Given the description of an element on the screen output the (x, y) to click on. 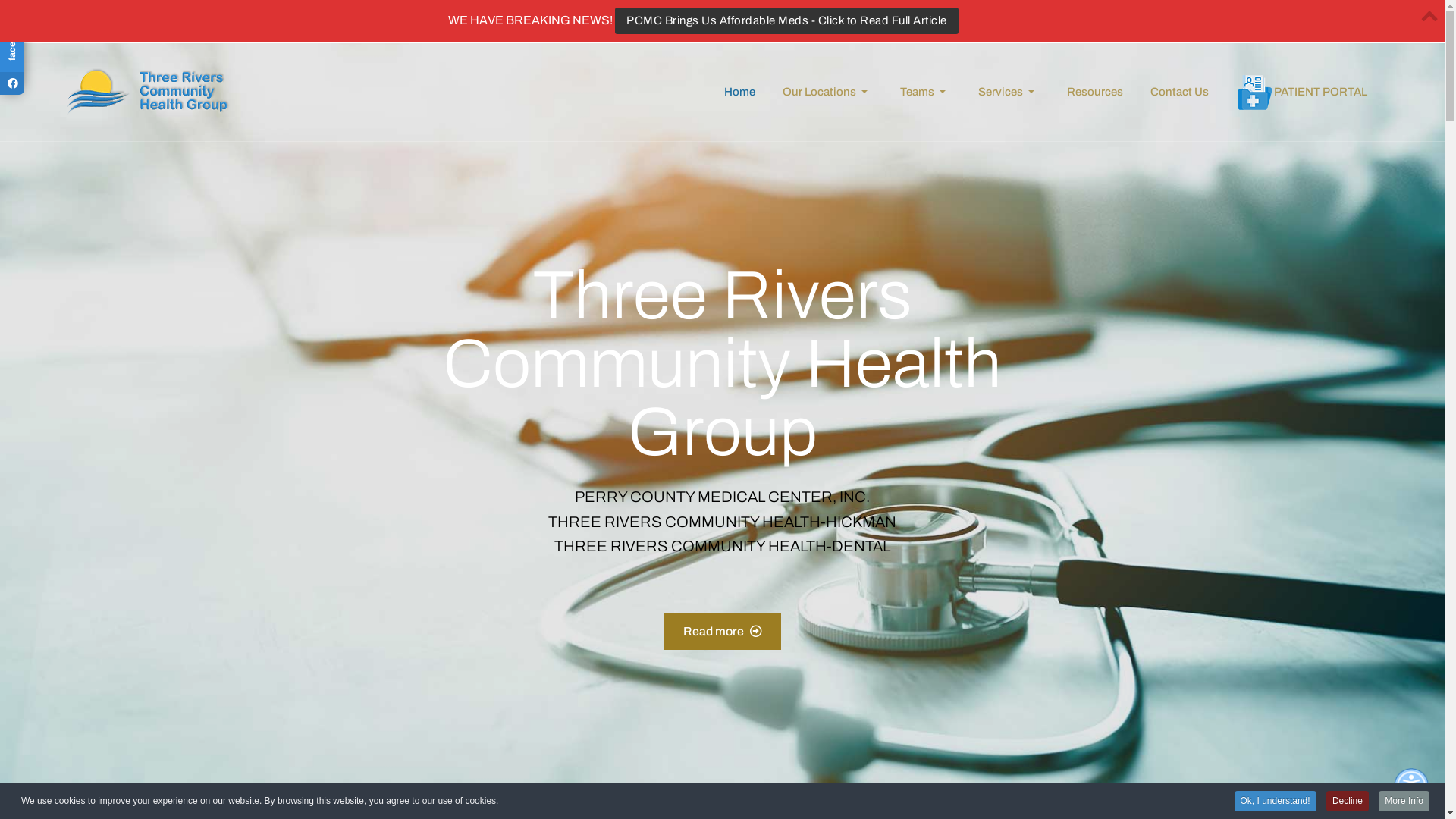
Read more Element type: text (722, 630)
Contact Us Element type: text (1179, 91)
Ok, I understand! Element type: text (1275, 800)
Home Element type: text (739, 91)
More Info Element type: text (1403, 800)
Open accessibility tools Element type: hover (1411, 785)
PATIENT PORTAL Element type: text (1301, 91)
Services Element type: text (1008, 91)
Teams Element type: text (925, 91)
PCMC Brings Us Affordable Meds - Click to Read Full Article Element type: text (786, 20)
Our Locations Element type: text (827, 91)
Resources Element type: text (1094, 91)
Three Rivers Community Health Group Element type: hover (149, 91)
Decline Element type: text (1347, 800)
